Given the description of an element on the screen output the (x, y) to click on. 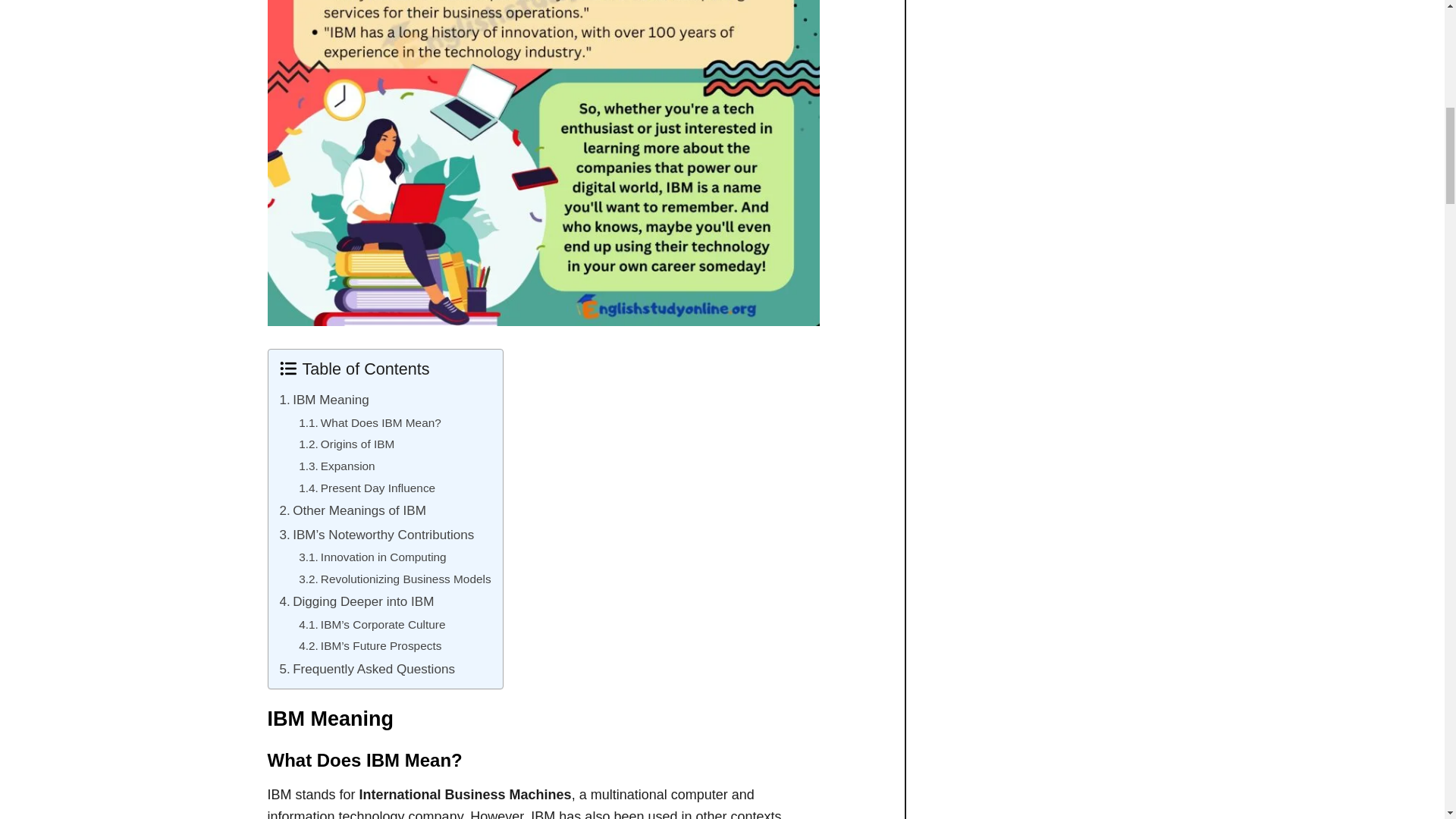
Frequently Asked Questions (366, 668)
Revolutionizing Business Models (394, 579)
Innovation in Computing (372, 557)
Digging Deeper into IBM (356, 601)
Other Meanings of IBM (352, 510)
What Does IBM Mean? (369, 423)
Origins of IBM (346, 444)
IBM Meaning (323, 399)
Present Day Influence (366, 488)
Expansion (336, 466)
